Given the description of an element on the screen output the (x, y) to click on. 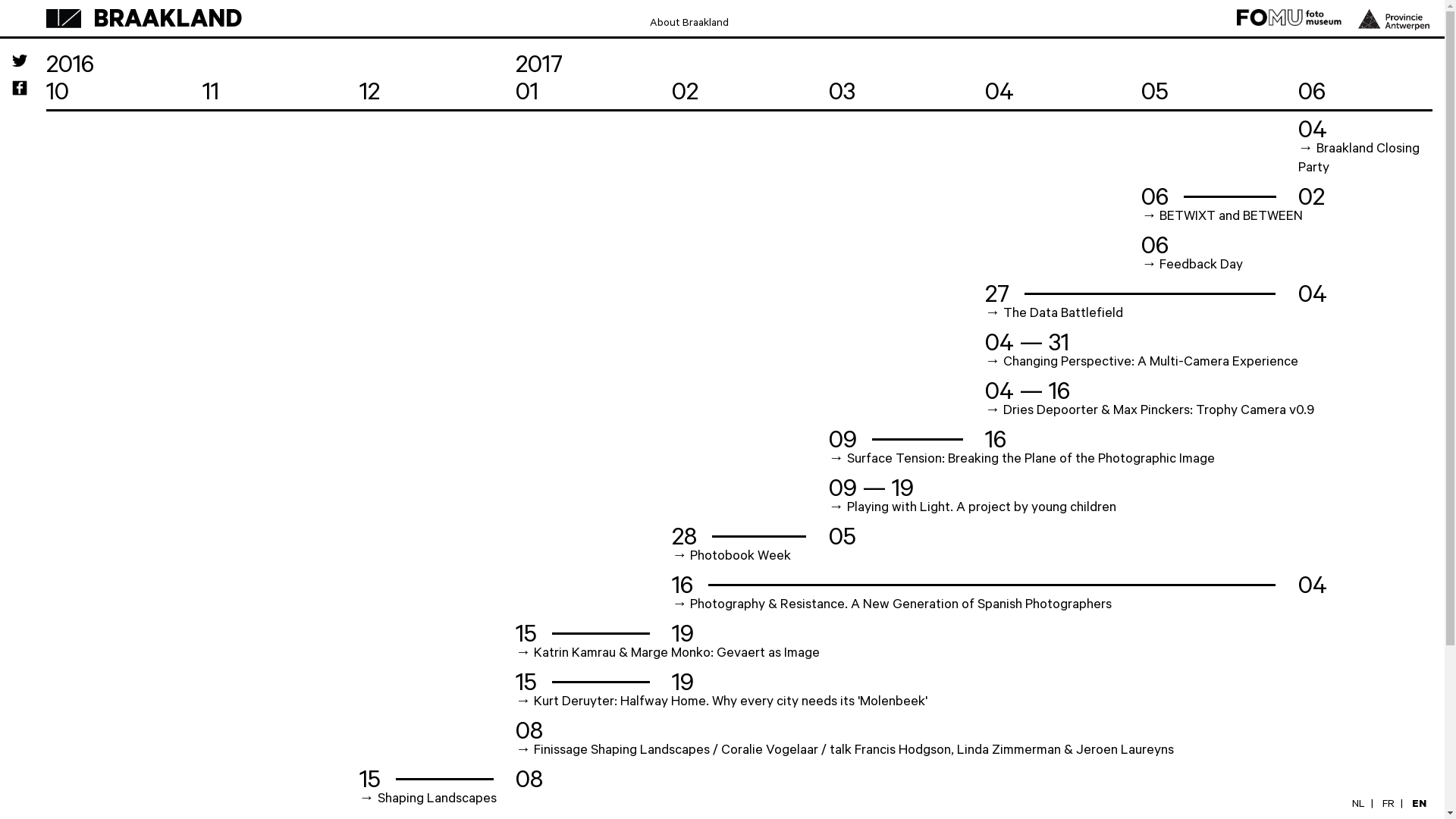
EN Element type: text (1419, 805)
BRAAKLAND Element type: text (167, 23)
NL Element type: text (1358, 805)
FR Element type: text (1388, 805)
About Braakland Element type: text (688, 24)
